Given the description of an element on the screen output the (x, y) to click on. 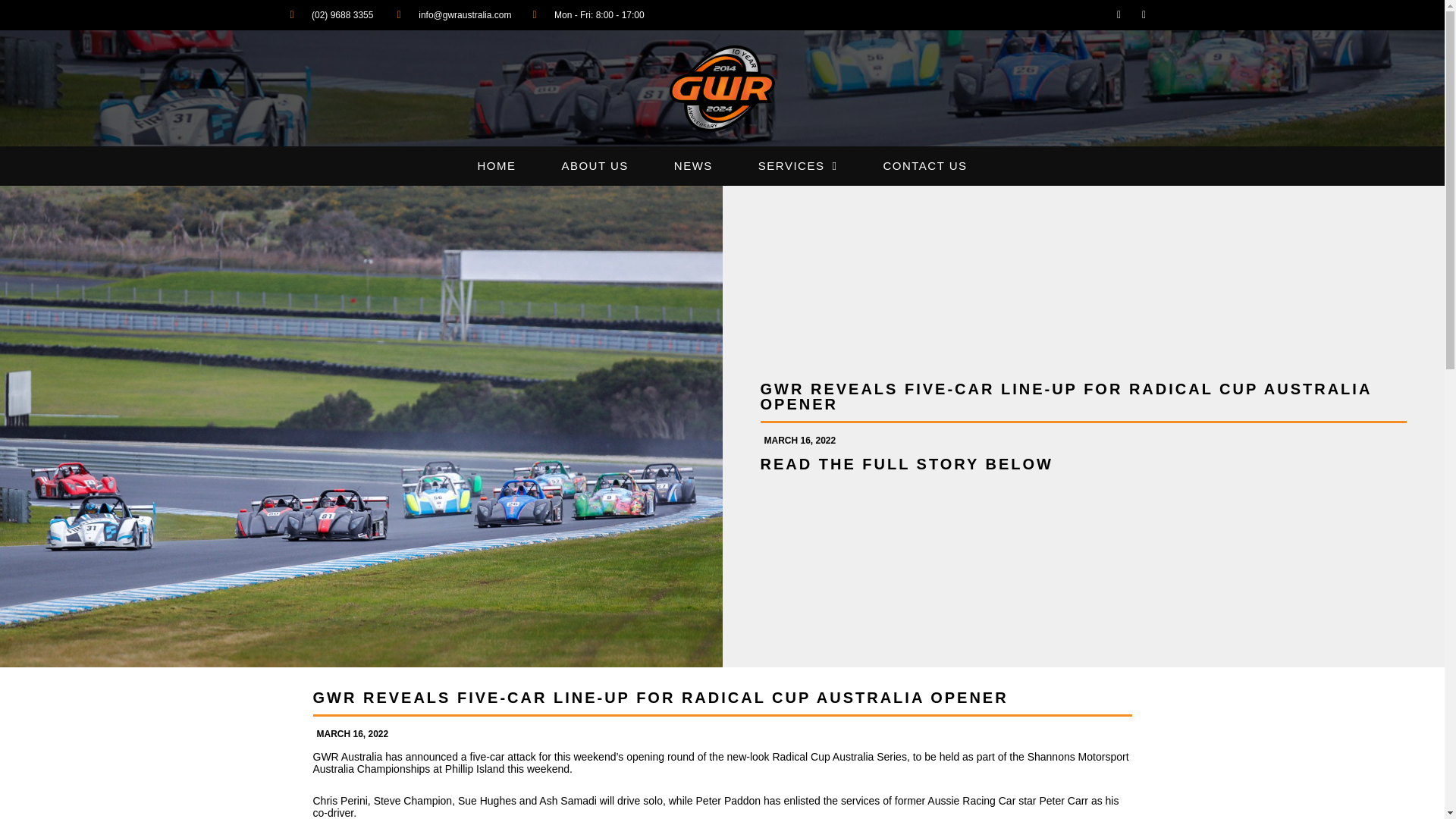
ABOUT US (594, 165)
SERVICES (797, 165)
MARCH 16, 2022 (350, 733)
CONTACT US (925, 165)
NEWS (692, 165)
MARCH 16, 2022 (797, 440)
HOME (496, 165)
